Given the description of an element on the screen output the (x, y) to click on. 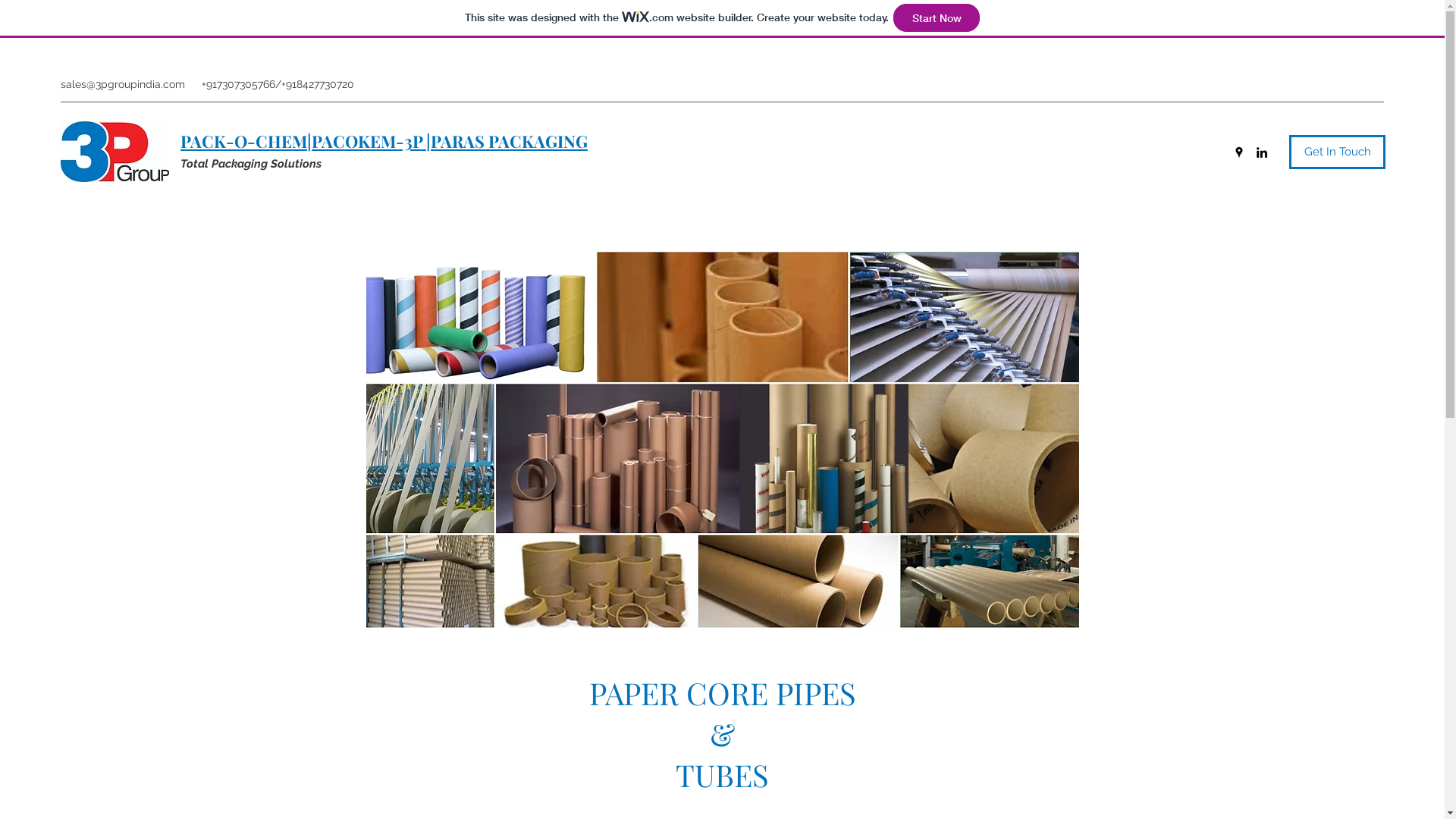
Get In Touch Element type: text (1337, 151)
sales@3pgroupindia.com Element type: text (122, 84)
